Given the description of an element on the screen output the (x, y) to click on. 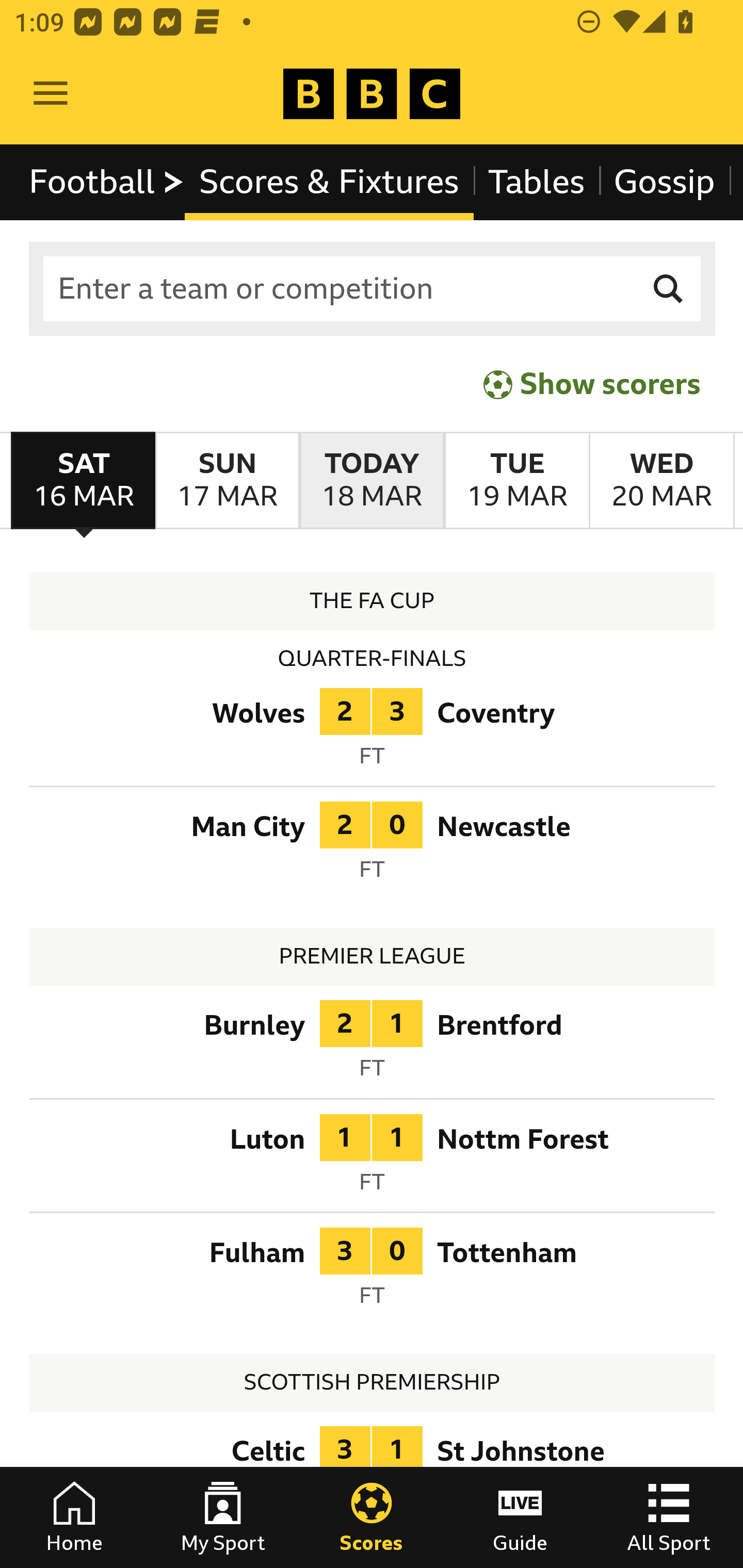
Open Menu (50, 93)
Football  (106, 181)
Scores & Fixtures (329, 181)
Tables (536, 181)
Gossip (664, 181)
Search (669, 289)
Show scorers (591, 383)
SundayMarch 17th Sunday March 17th (227, 480)
TodayMarch 18th Today March 18th (371, 480)
TuesdayMarch 19th Tuesday March 19th (516, 480)
WednesdayMarch 20th Wednesday March 20th (661, 480)
68519748 Burnley 2 Brentford 1 Full Time (372, 1044)
68519744 Fulham 3 Tottenham Hotspur 0 Full Time (372, 1272)
Home (74, 1517)
My Sport (222, 1517)
Guide (519, 1517)
All Sport (668, 1517)
